Given the description of an element on the screen output the (x, y) to click on. 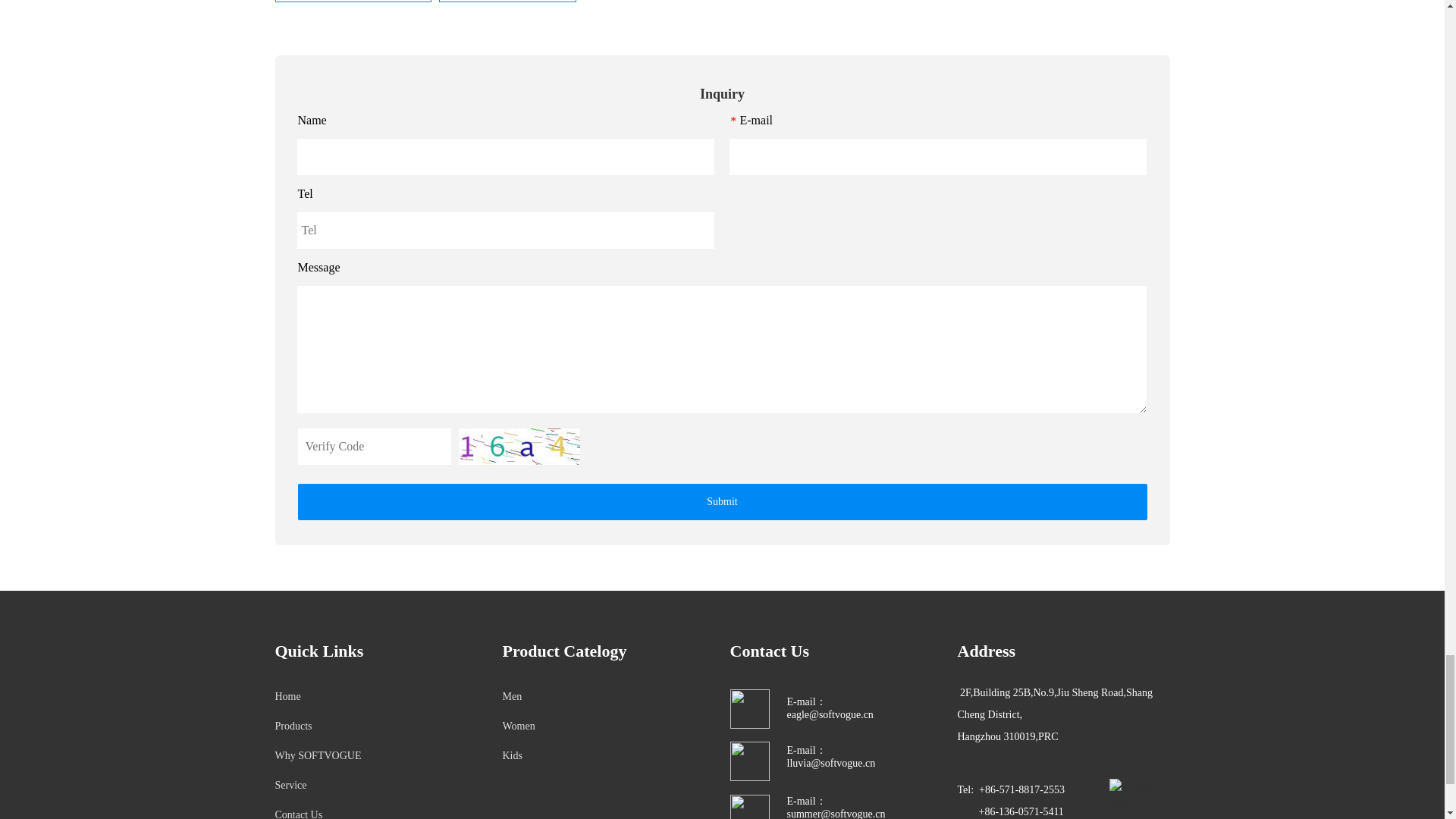
Home (287, 696)
